Given the description of an element on the screen output the (x, y) to click on. 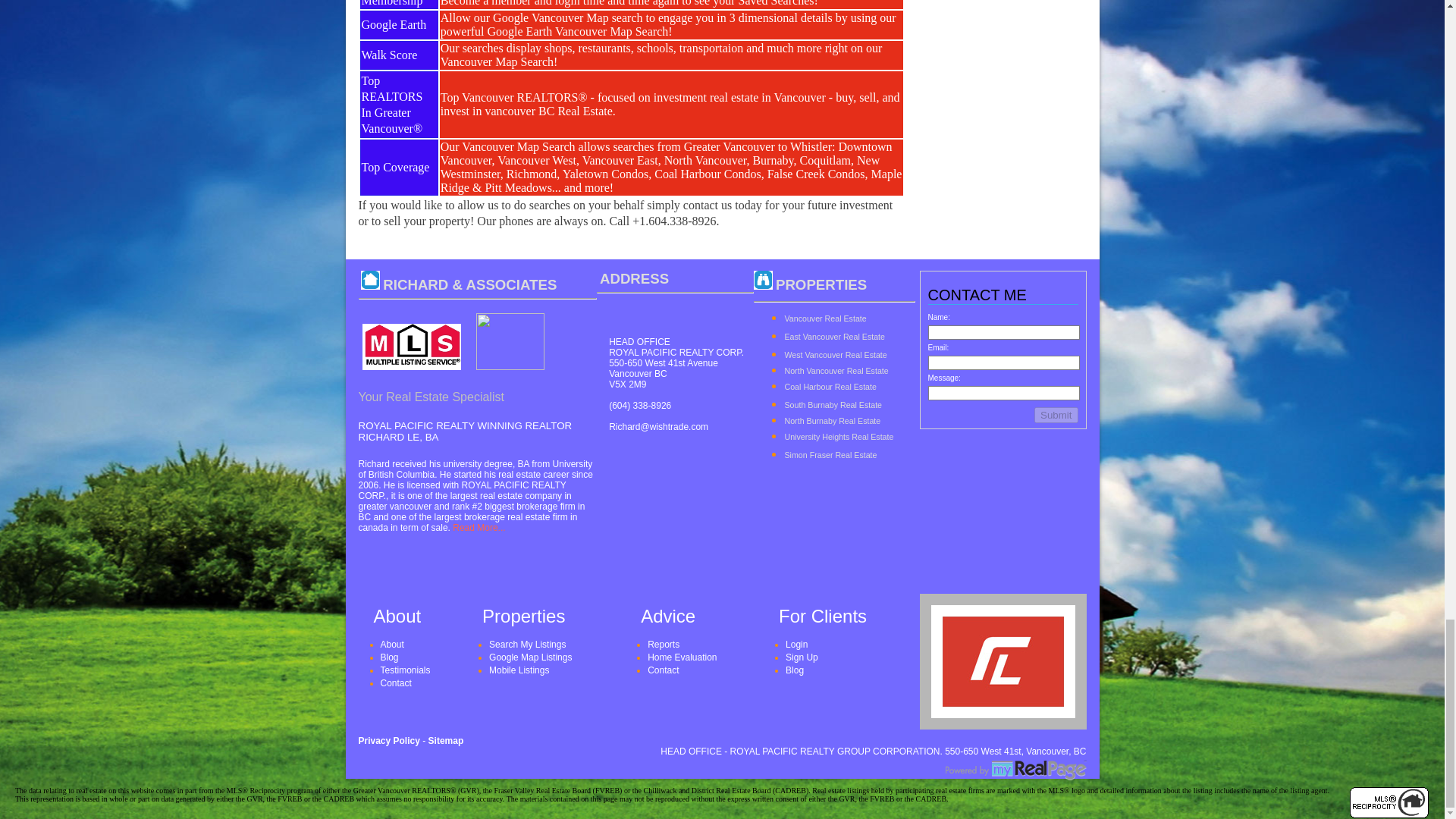
Submit (1055, 415)
